Given the description of an element on the screen output the (x, y) to click on. 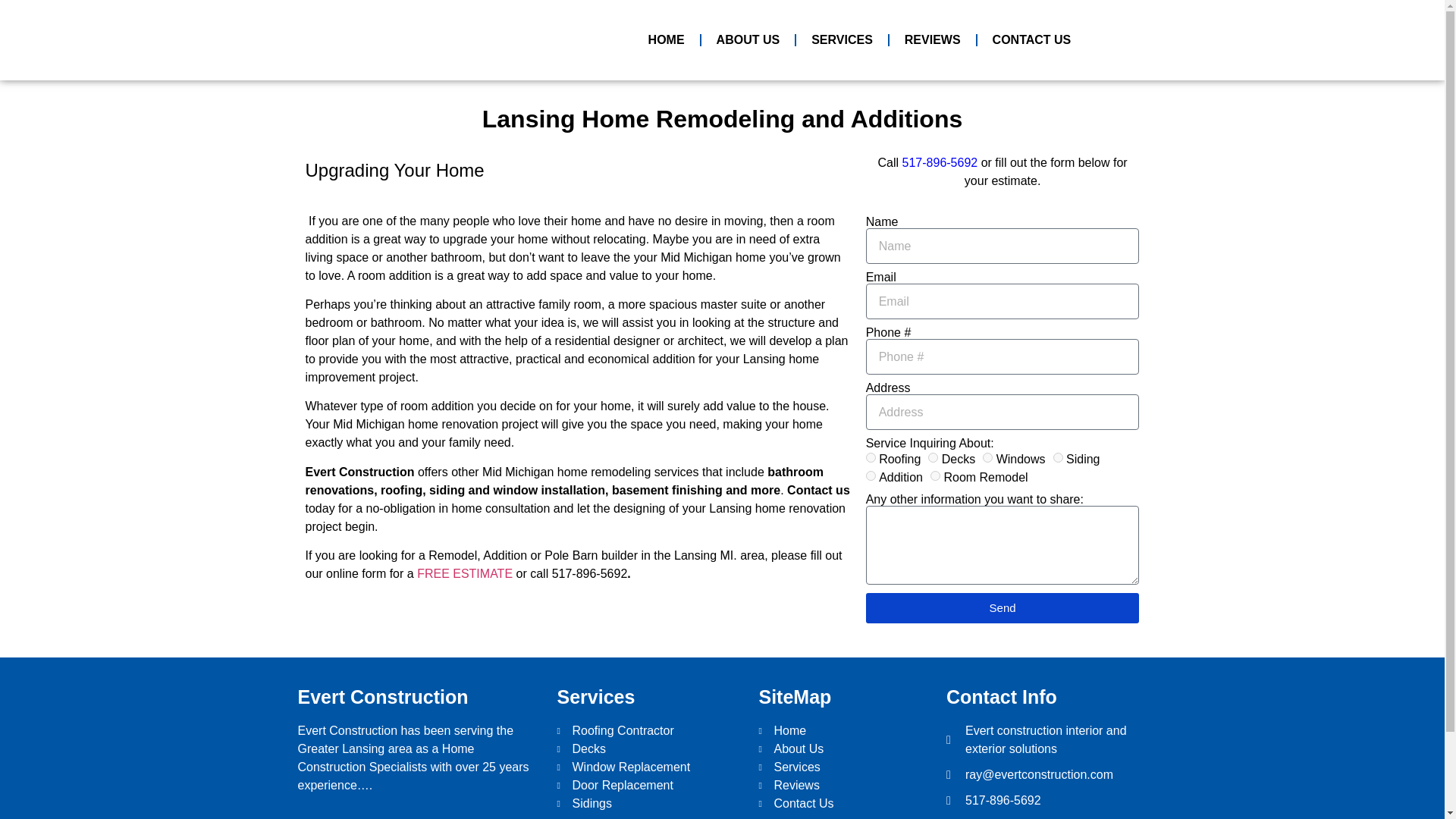
Contact Us (844, 803)
Reviews (844, 785)
SERVICES (842, 39)
Send (1003, 607)
Home (844, 730)
Siding (1057, 457)
ABOUT US (747, 39)
Decks (932, 457)
Windows (987, 457)
Door Replacement (649, 785)
Roofing (871, 457)
HOME (666, 39)
Sidings (649, 803)
CONTACT US (1031, 39)
Roofing Contractor (649, 730)
